Given the description of an element on the screen output the (x, y) to click on. 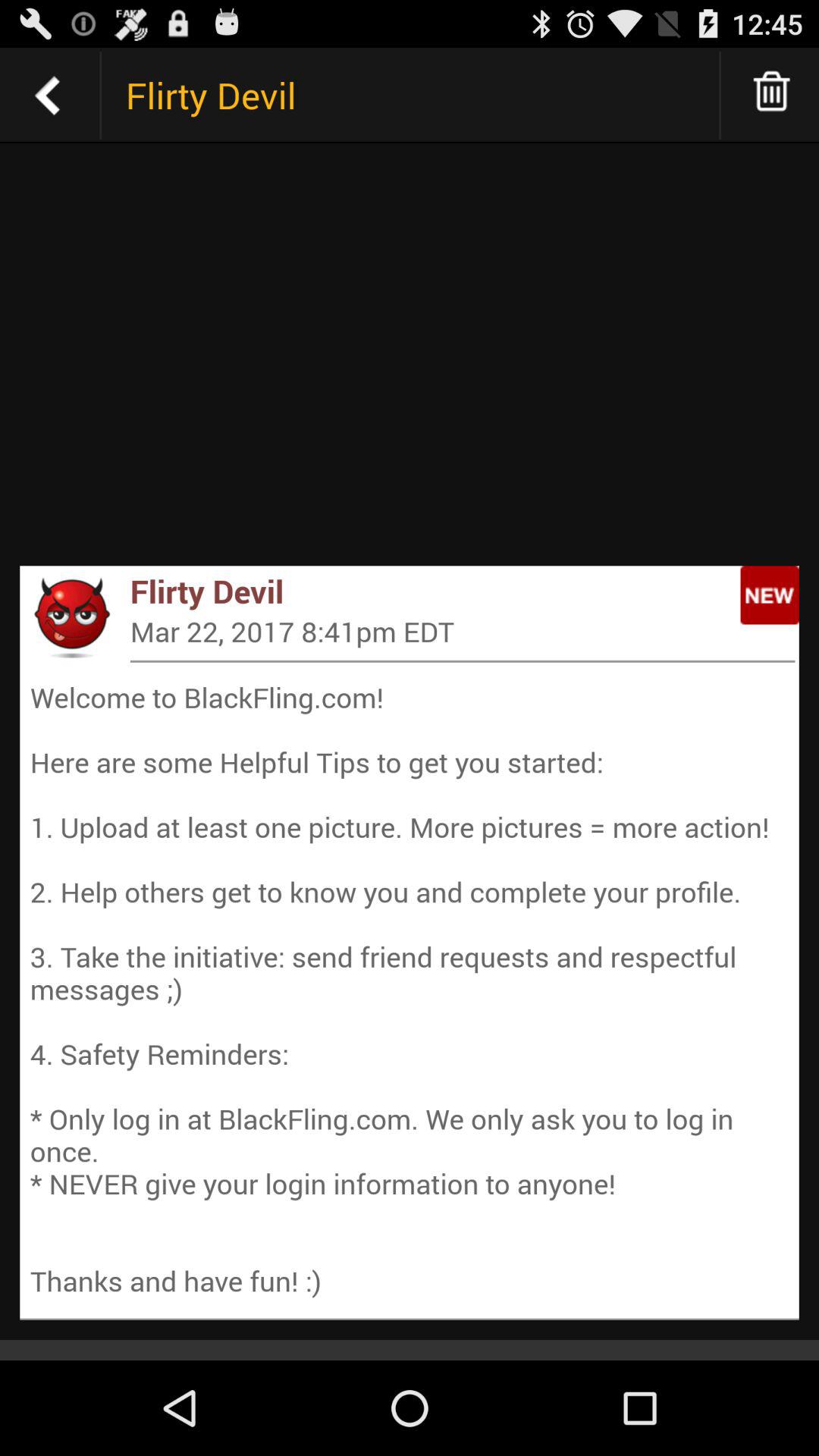
click the welcome to blackfling icon (409, 988)
